Given the description of an element on the screen output the (x, y) to click on. 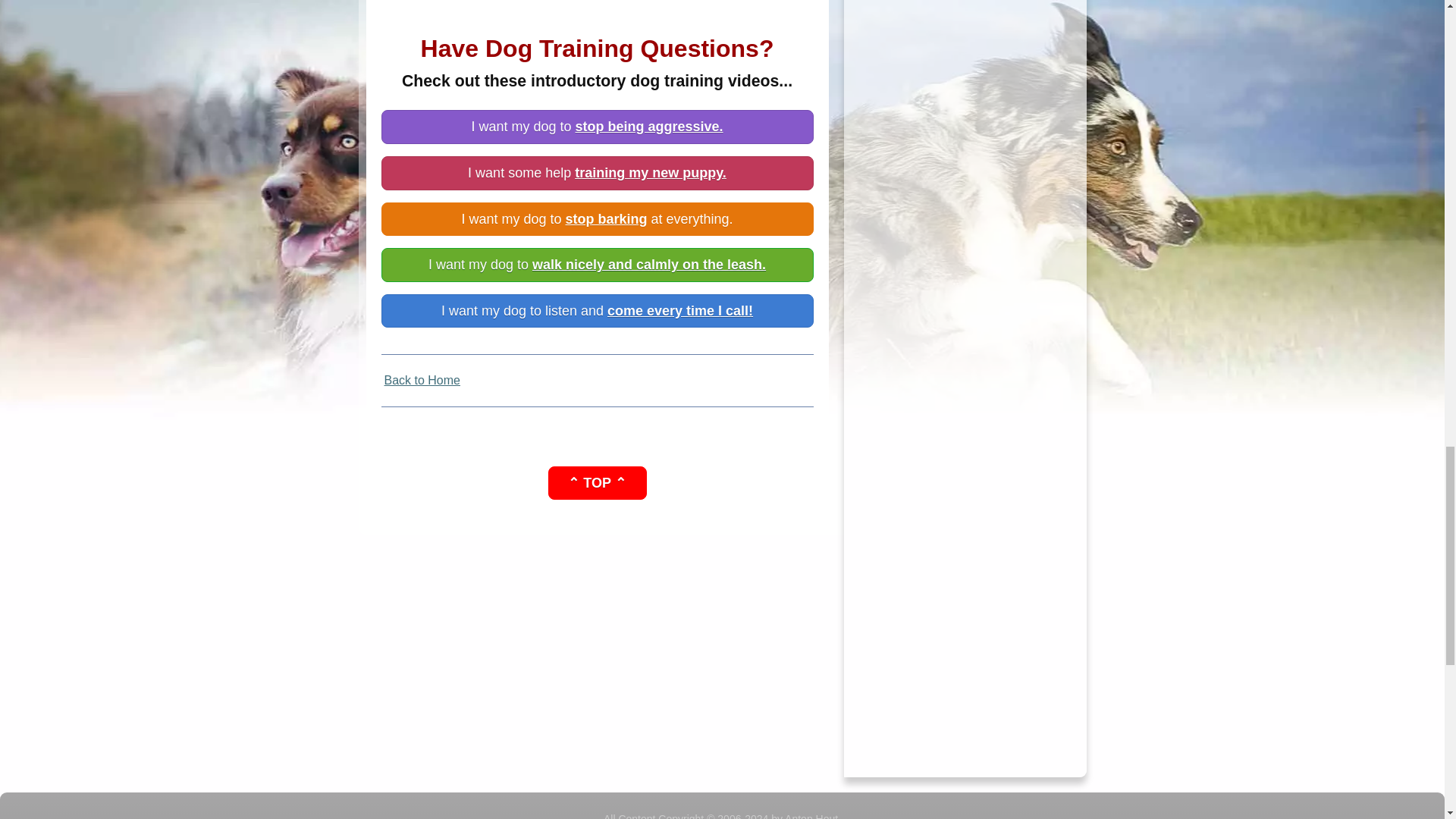
CLICK FOR ONLINE PUZZLE OF THIS PHOTO... (964, 619)
Back to Top (596, 483)
CLICK FOR ONLINE PUZZLE OF THIS PHOTO... (964, 392)
Australian Shepherd Breeders Directory (964, 45)
Are You An Australian Shepherd Breeder? Get Listed Here (964, 64)
Check out our new Amazon Store (964, 126)
Australian Shepherd Rescue (964, 83)
